Given the description of an element on the screen output the (x, y) to click on. 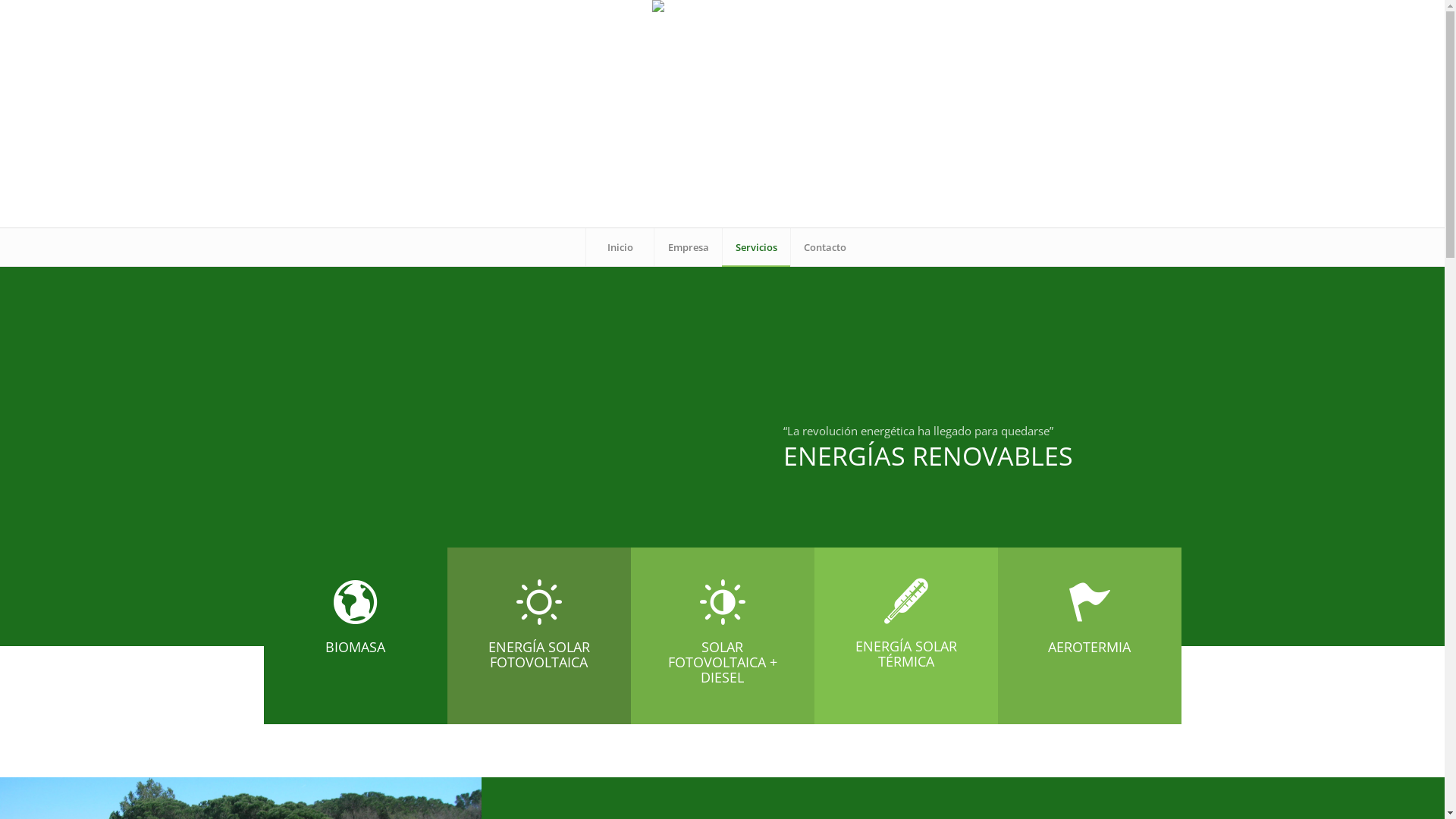
Inicio Element type: text (619, 247)
Contacto Element type: text (824, 247)
Servicios Element type: text (755, 247)
Empresa Element type: text (687, 247)
